Given the description of an element on the screen output the (x, y) to click on. 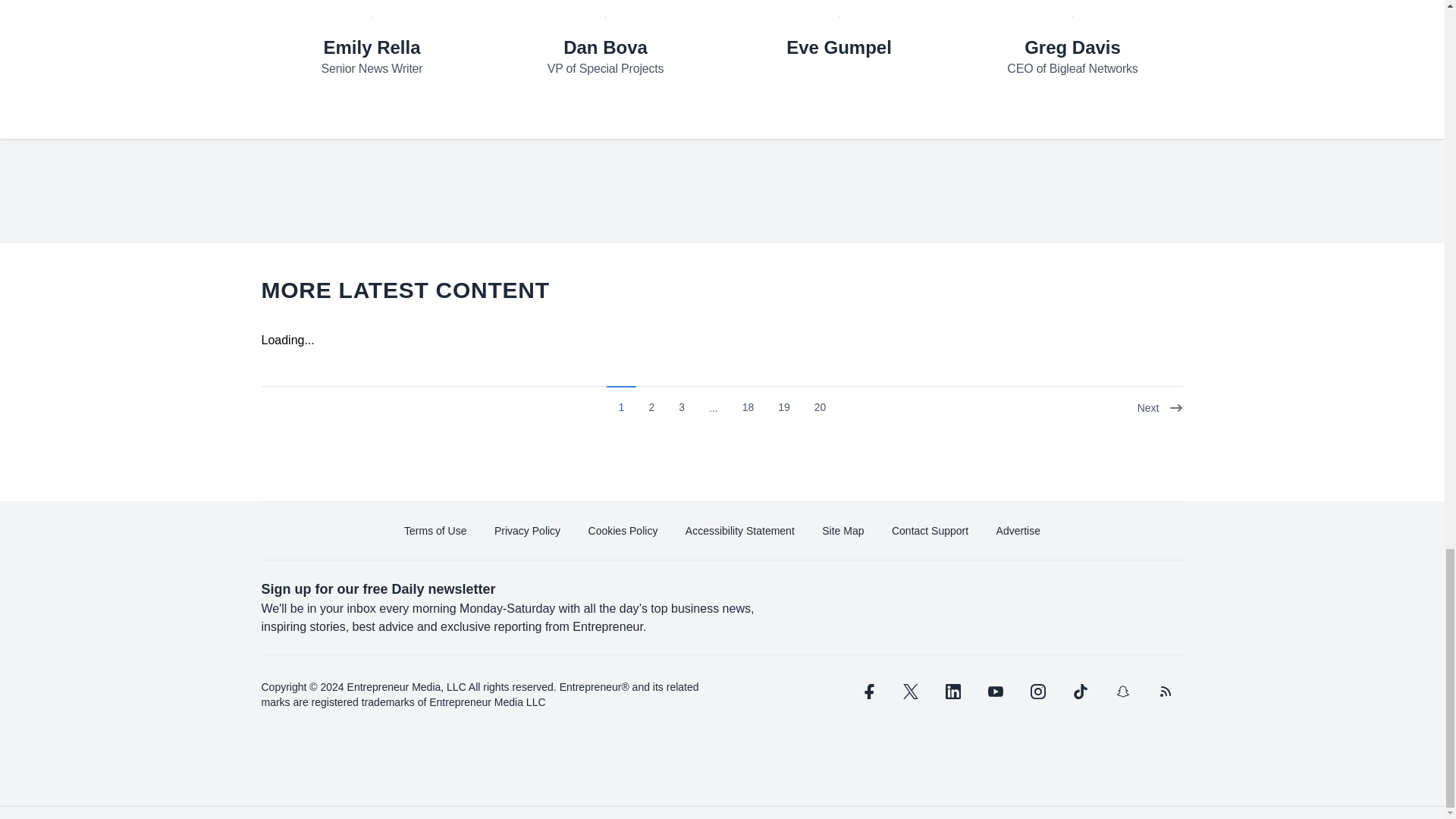
twitter (909, 691)
facebook (866, 691)
instagram (1037, 691)
tiktok (1079, 691)
linkedin (952, 691)
rss (1164, 691)
youtube (994, 691)
snapchat (1121, 691)
